Given the description of an element on the screen output the (x, y) to click on. 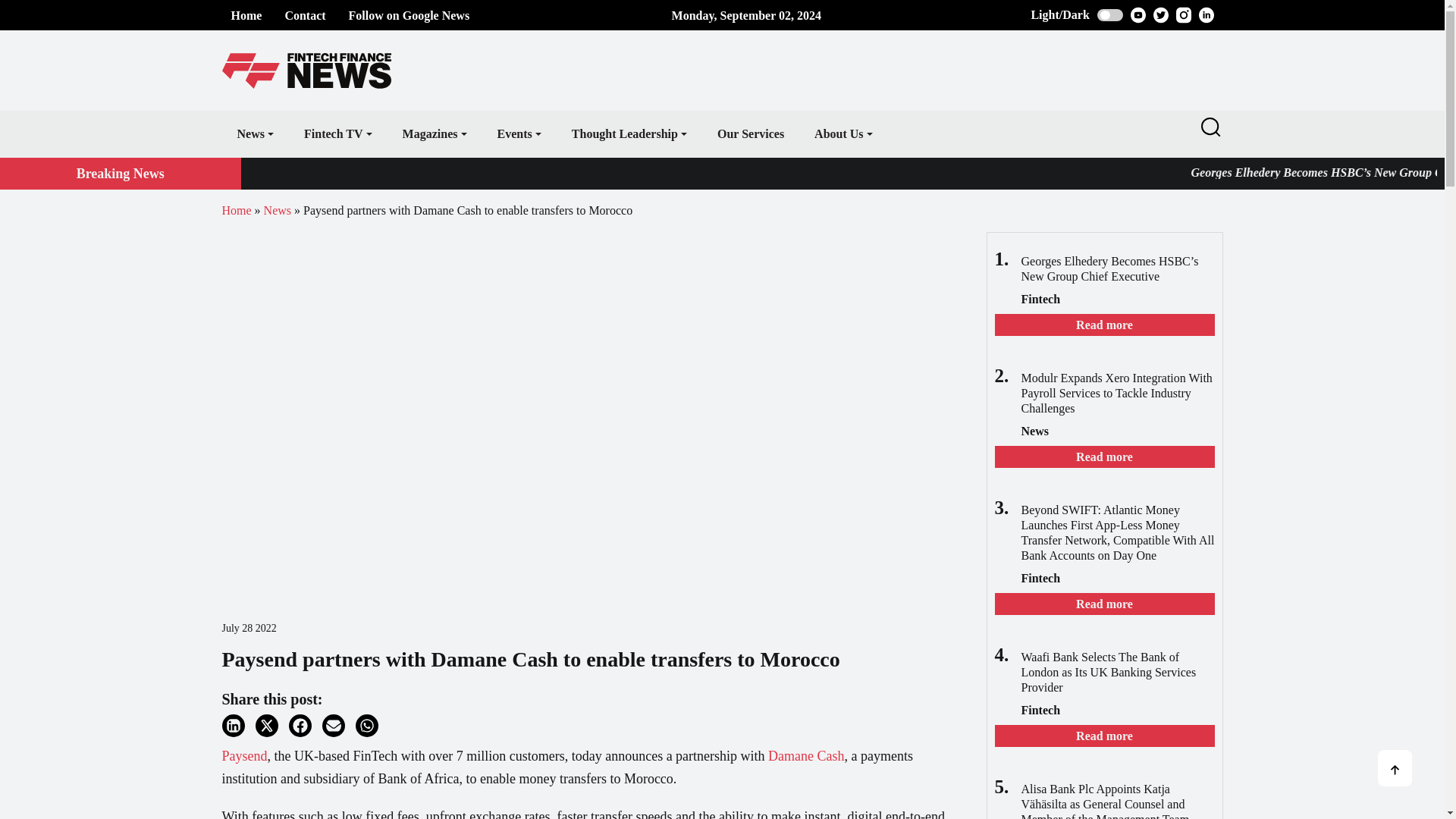
Home (246, 15)
Fintech TV (337, 134)
News (254, 134)
Fintech TV (337, 134)
Follow on Google News (409, 15)
Magazines (434, 134)
Contact (303, 15)
Events (518, 134)
